Given the description of an element on the screen output the (x, y) to click on. 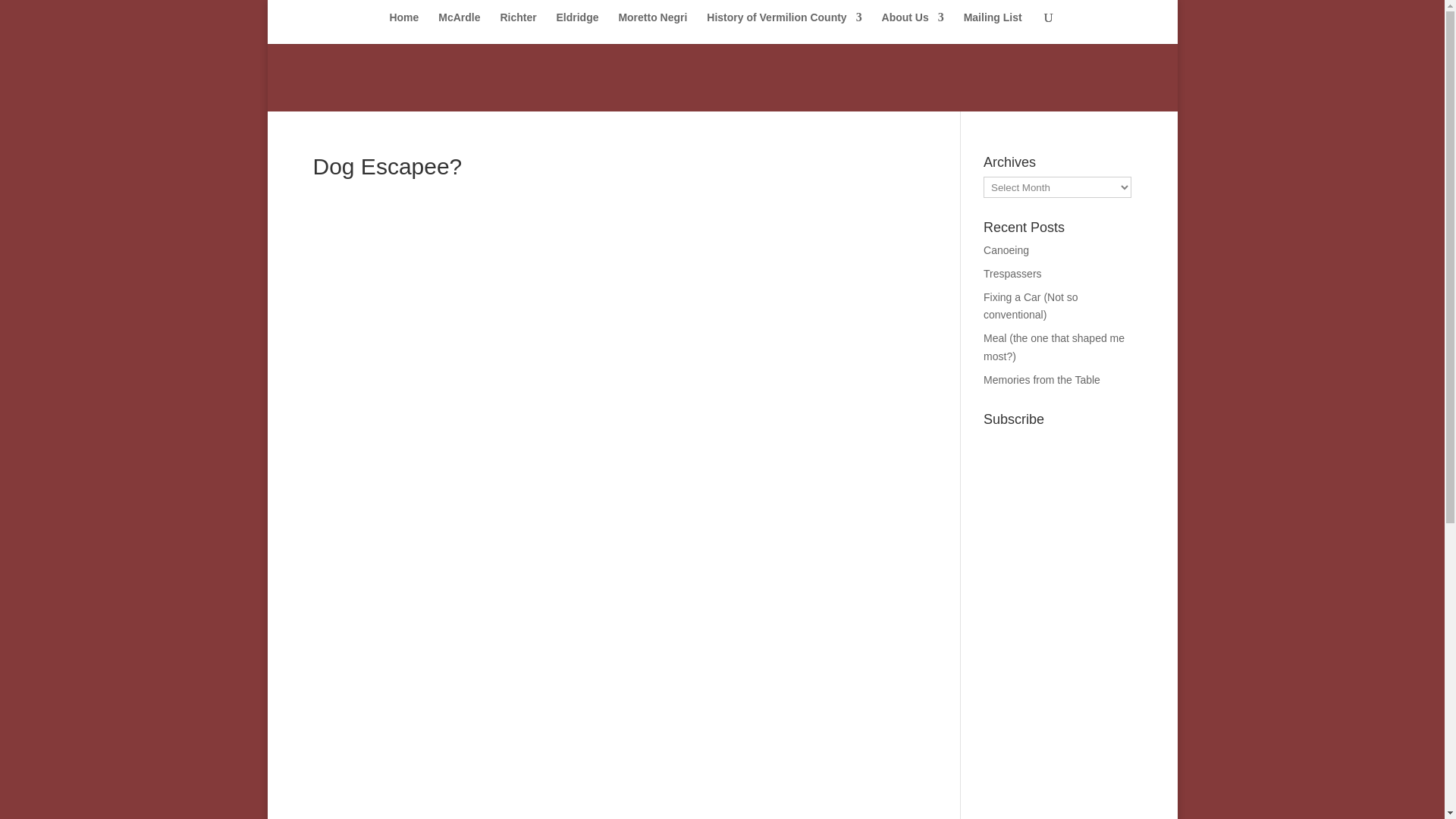
Canoeing (1006, 250)
Mailing List (992, 28)
Trespassers (1013, 273)
Home (403, 28)
History of Vermilion County (783, 28)
McArdle (459, 28)
Richter (517, 28)
Eldridge (577, 28)
About Us (912, 28)
Moretto Negri (652, 28)
